Given the description of an element on the screen output the (x, y) to click on. 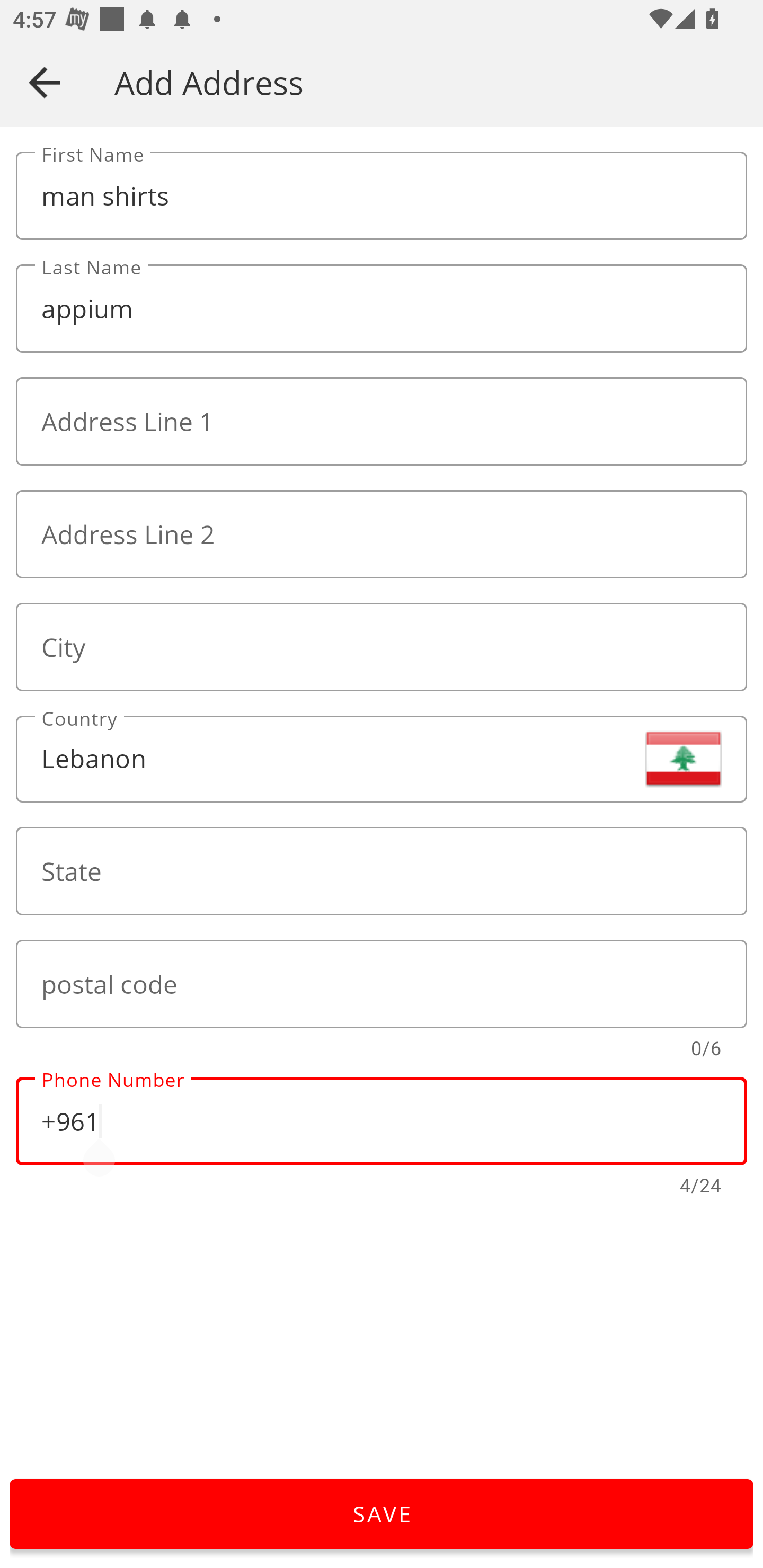
Navigate up (44, 82)
man shirts (381, 195)
appium (381, 308)
Address Line 1 (381, 421)
Address Line 2 (381, 533)
City (381, 646)
Lebanon (381, 758)
State (381, 870)
postal code (381, 983)
+961 (381, 1121)
SAVE (381, 1513)
